Given the description of an element on the screen output the (x, y) to click on. 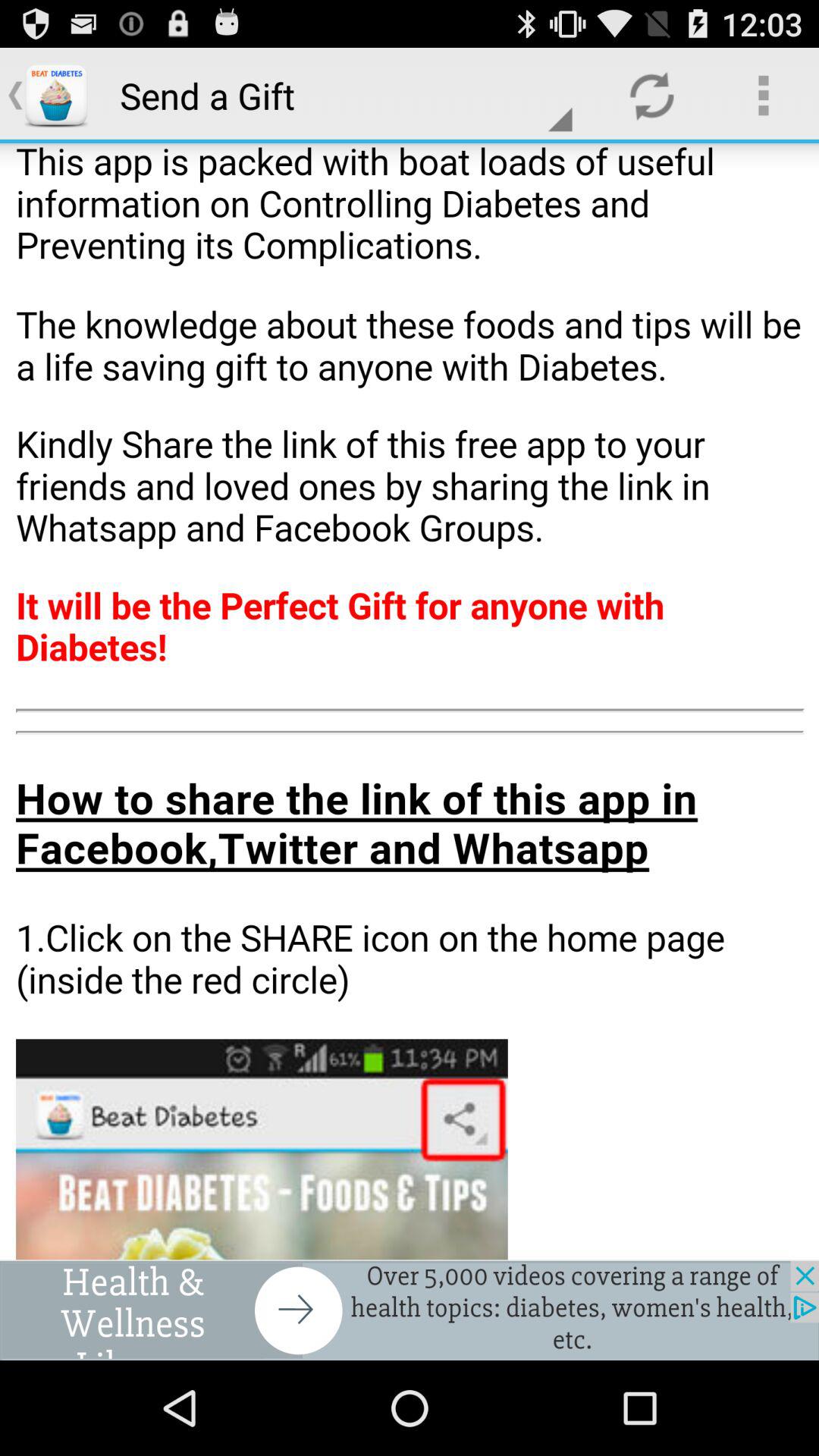
details about the app (409, 701)
